Given the description of an element on the screen output the (x, y) to click on. 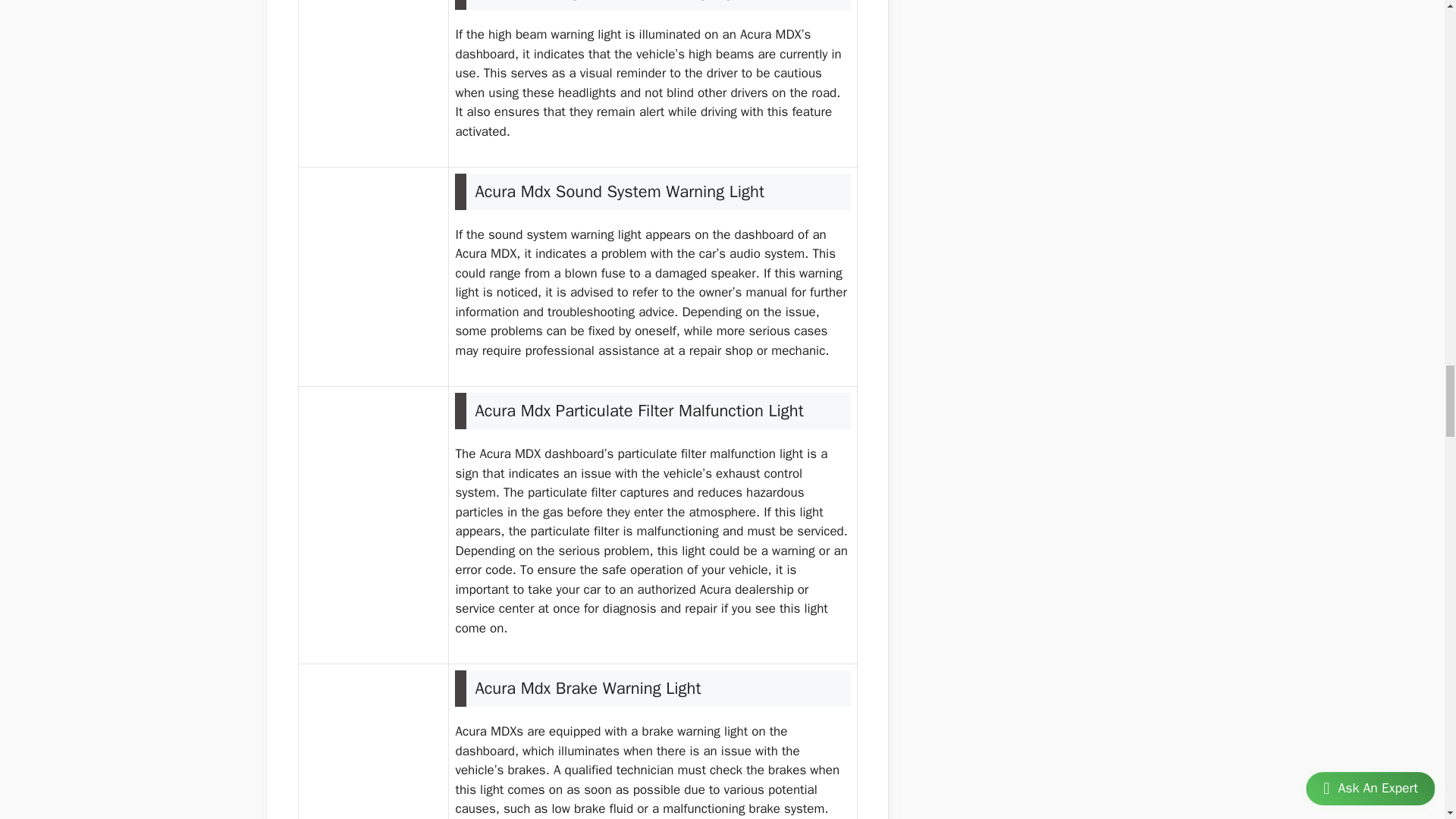
Acura Mdx Dashboard Warning Lights And Symbols 9 (373, 67)
